Given the description of an element on the screen output the (x, y) to click on. 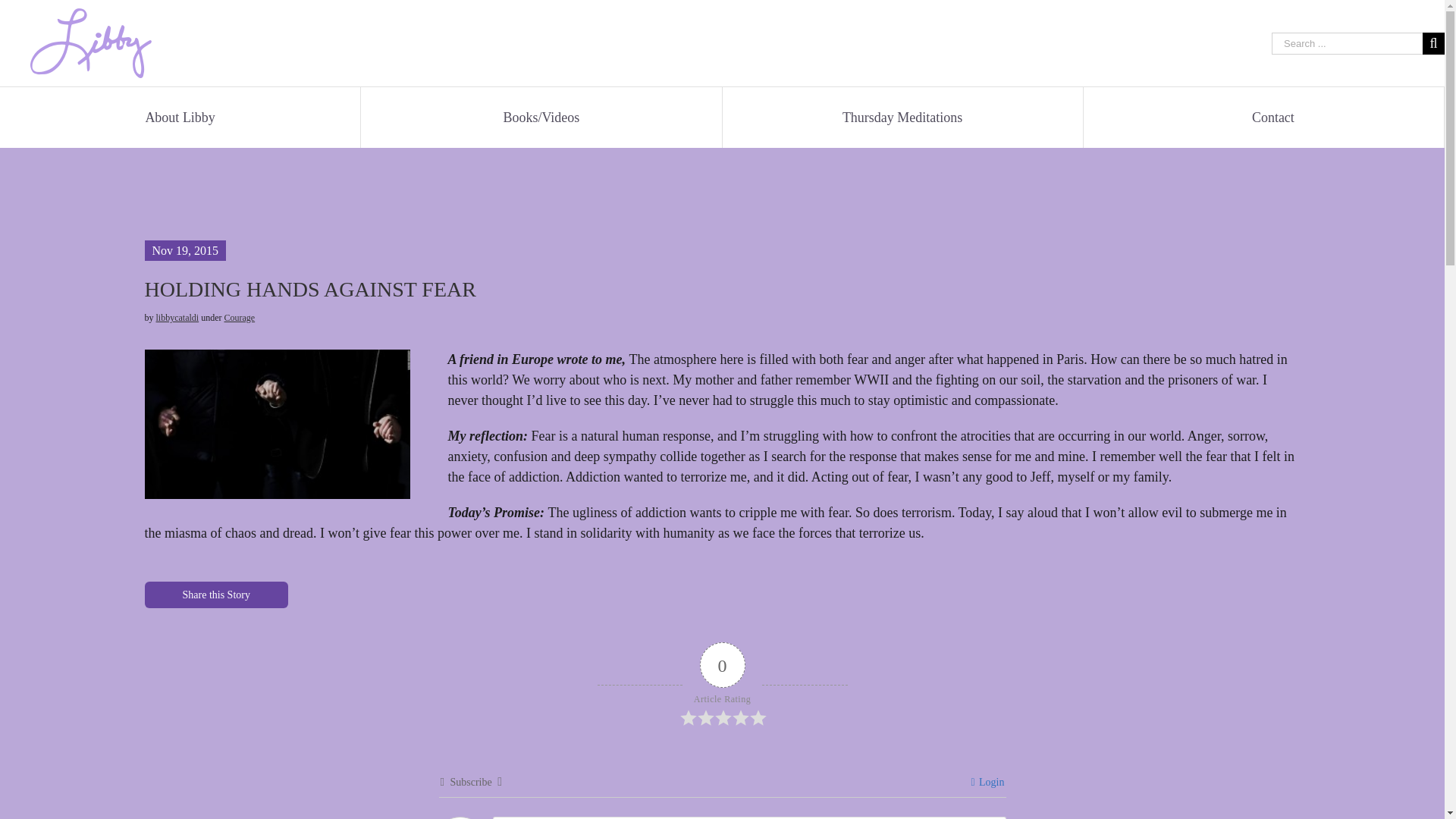
Login (987, 781)
libbycataldi (177, 317)
Contact (1273, 117)
About Libby (179, 117)
Courage (239, 317)
Thursday Meditations (902, 117)
